Given the description of an element on the screen output the (x, y) to click on. 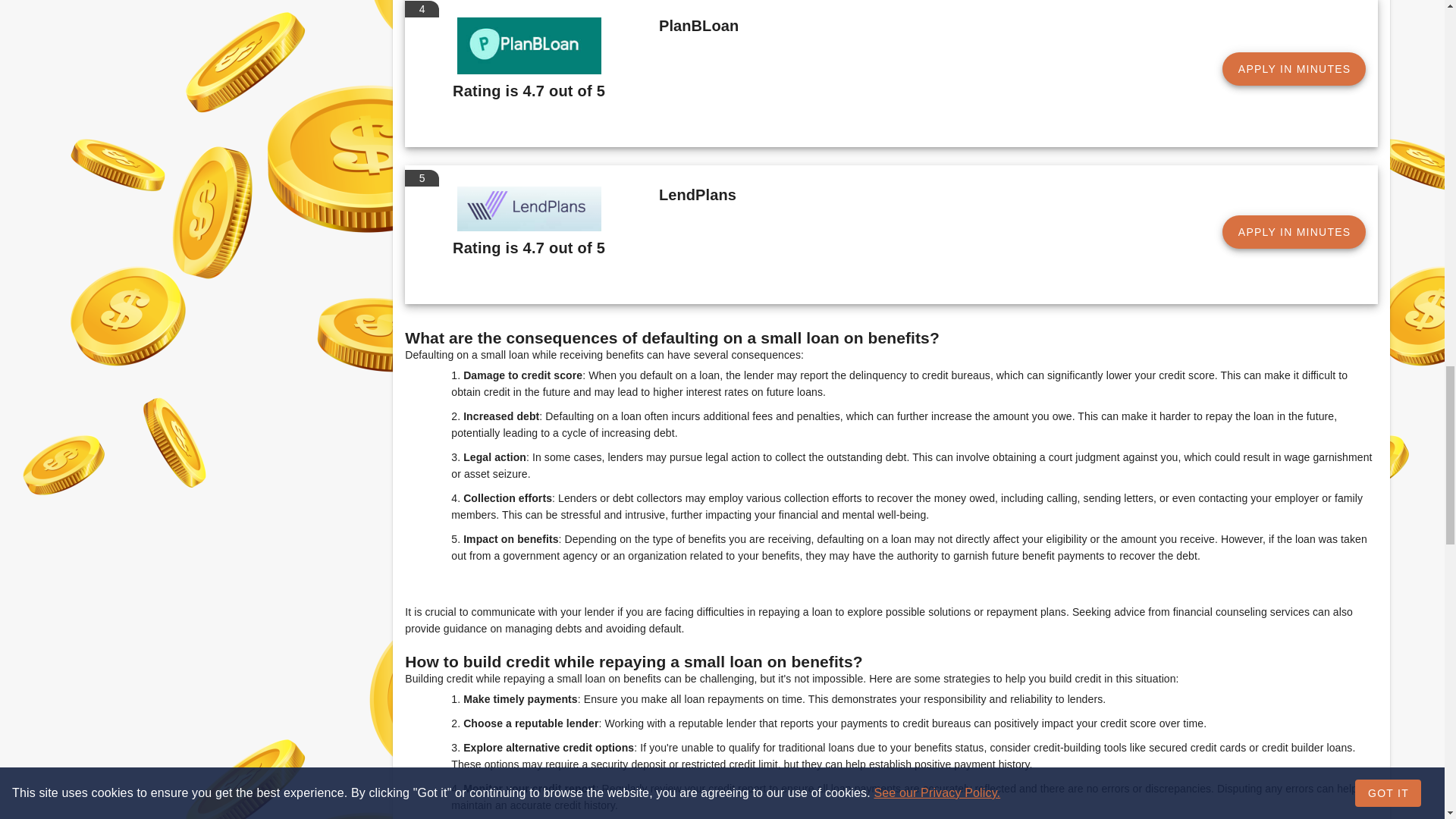
APPLY IN MINUTES (1294, 231)
APPLY IN MINUTES (1294, 68)
